Given the description of an element on the screen output the (x, y) to click on. 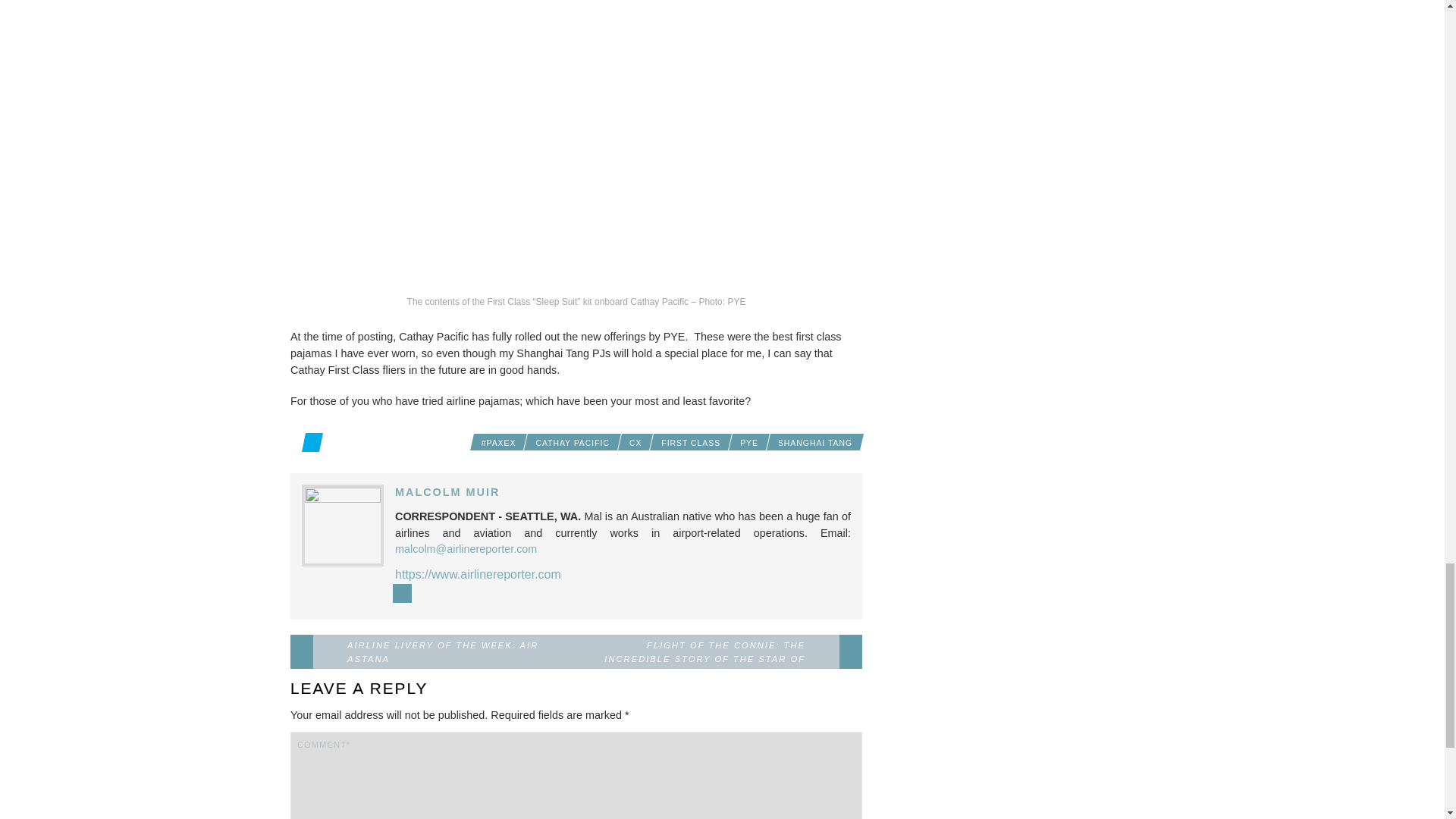
FIRST CLASS (690, 442)
CATHAY PACIFIC (572, 442)
CX (635, 442)
PYE (748, 442)
MALCOLM MUIR (446, 491)
SHANGHAI TANG (815, 442)
